Given the description of an element on the screen output the (x, y) to click on. 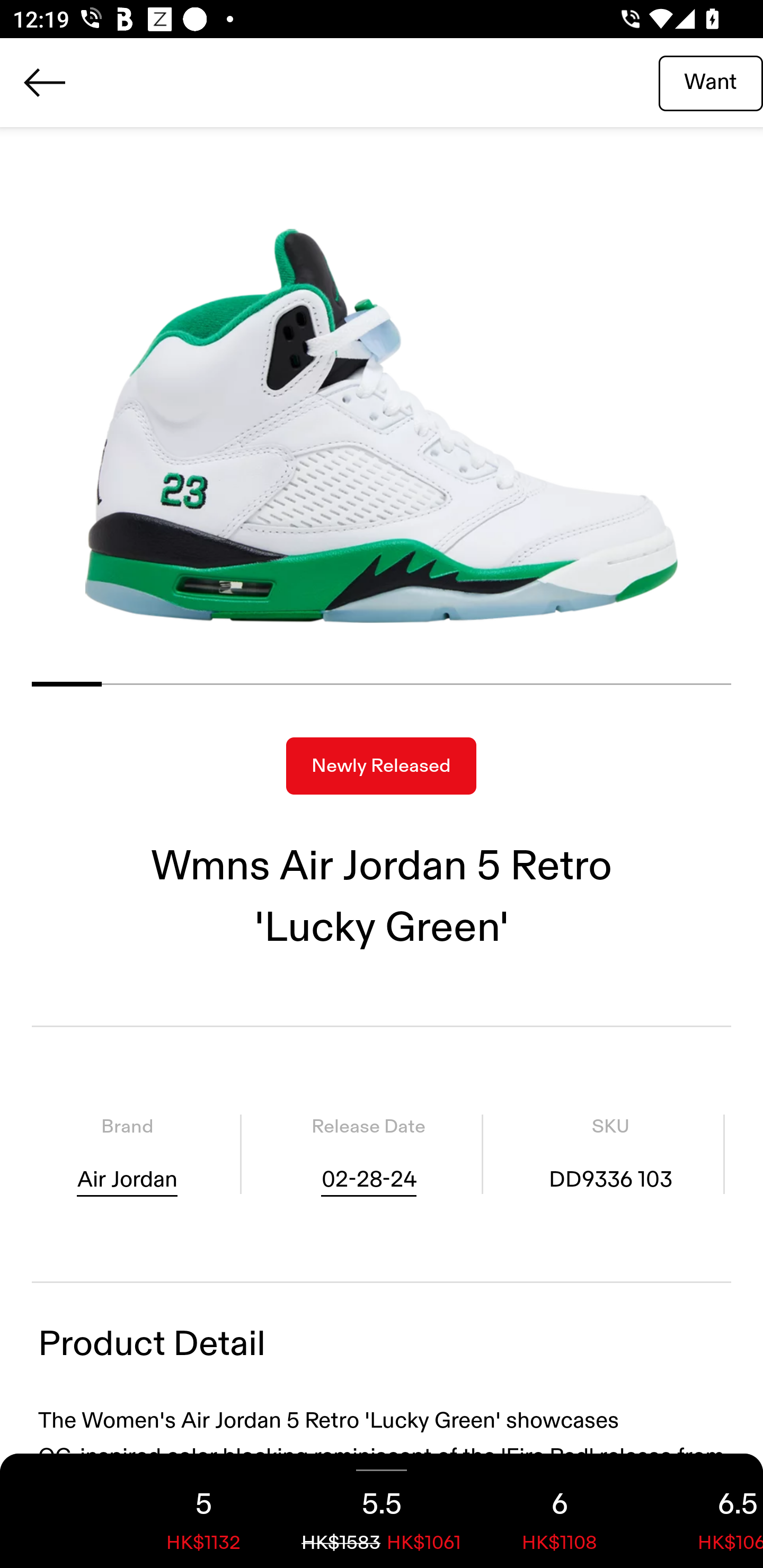
Want (710, 82)
Newly Released (381, 765)
Brand Air Jordan (126, 1153)
Release Date 02-28-24 (368, 1153)
SKU DD9336 103 (609, 1153)
5 HK$1132 (203, 1510)
5.5 HK$1583 HK$1061 (381, 1510)
6 HK$1108 (559, 1510)
6.5 HK$1068 (705, 1510)
